Given the description of an element on the screen output the (x, y) to click on. 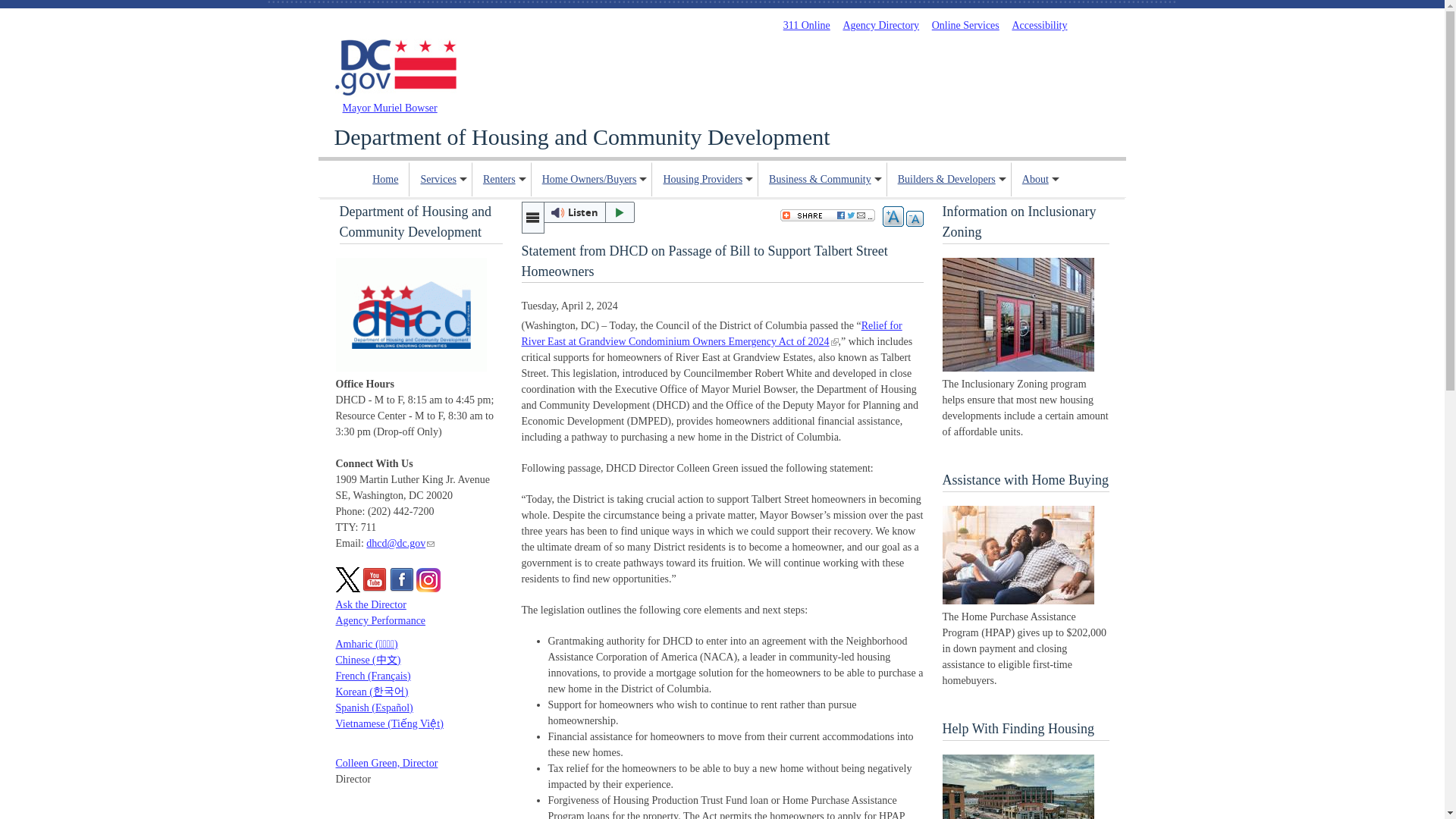
Agency Directory (880, 25)
Accessibility (1039, 25)
Agency Directory (880, 25)
Online Services (964, 25)
311 Online (806, 25)
Online Services (964, 25)
Accessibility (1039, 25)
311 Online (806, 25)
